Given the description of an element on the screen output the (x, y) to click on. 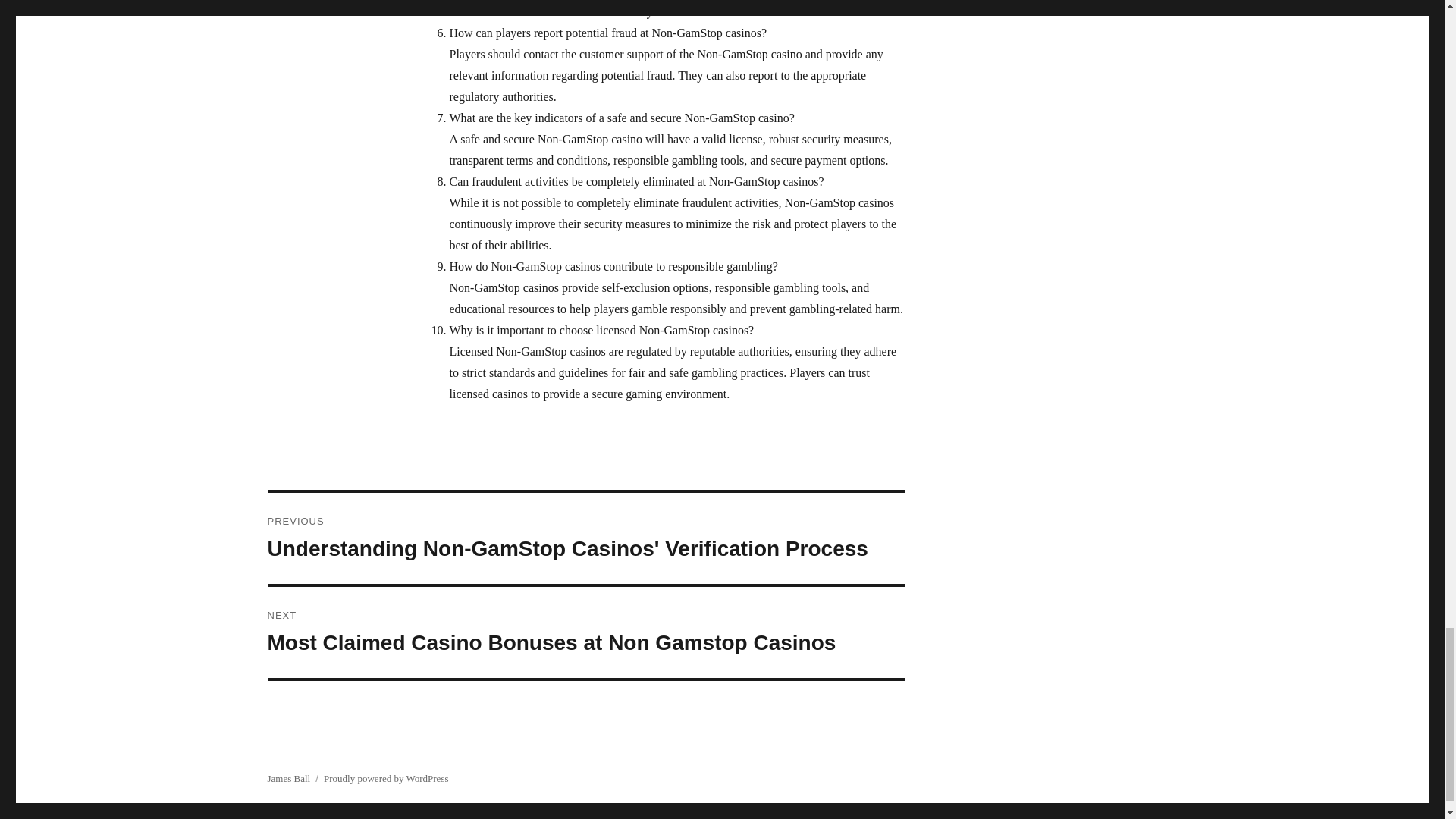
James Ball (288, 778)
Proudly powered by WordPress (385, 778)
